Given the description of an element on the screen output the (x, y) to click on. 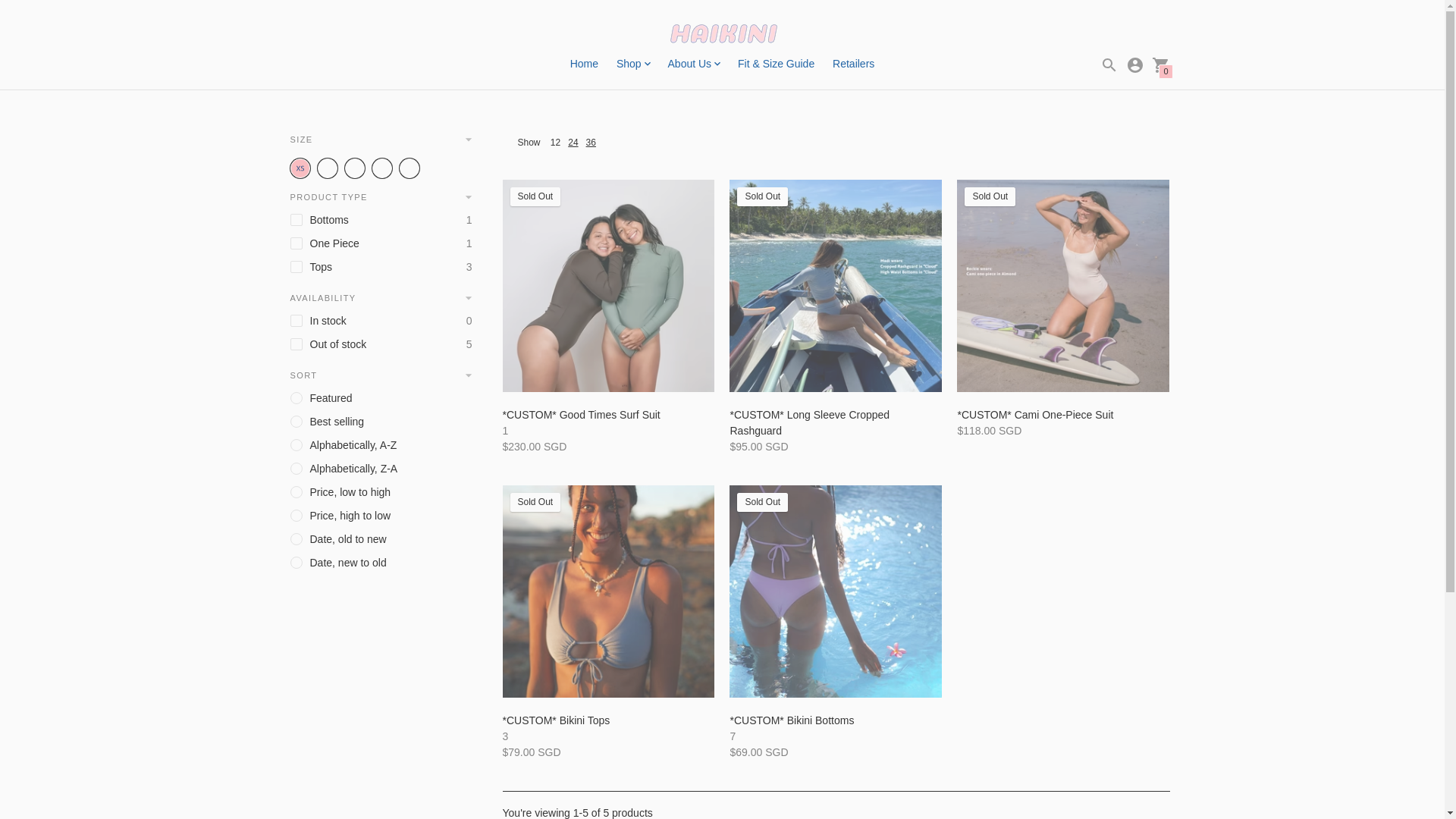
Home (584, 63)
Retailers (853, 63)
About Us (694, 64)
Shop (632, 64)
